Given the description of an element on the screen output the (x, y) to click on. 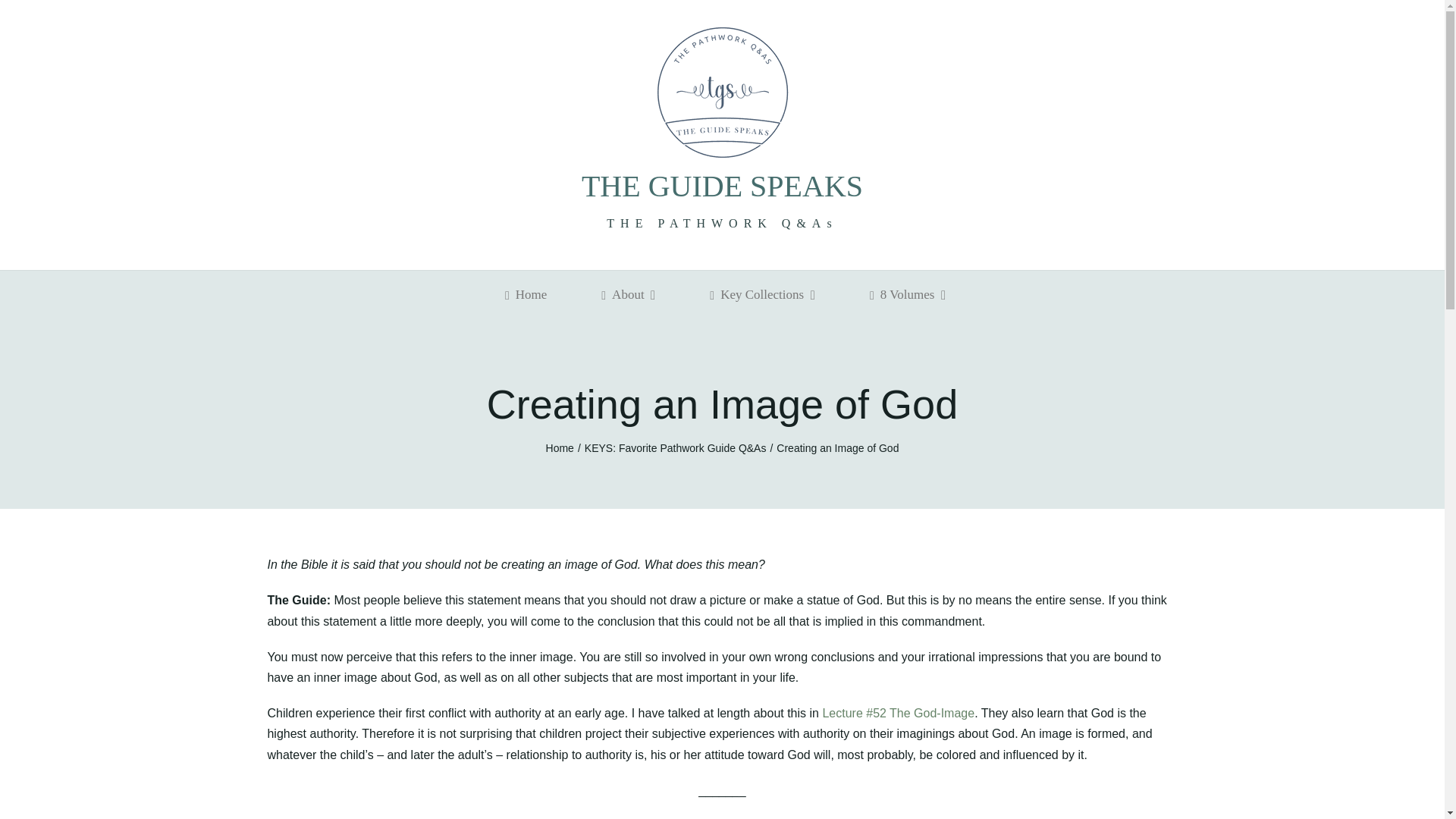
8 Volumes (903, 295)
Key Collections (759, 295)
About (625, 295)
Home (523, 295)
